Given the description of an element on the screen output the (x, y) to click on. 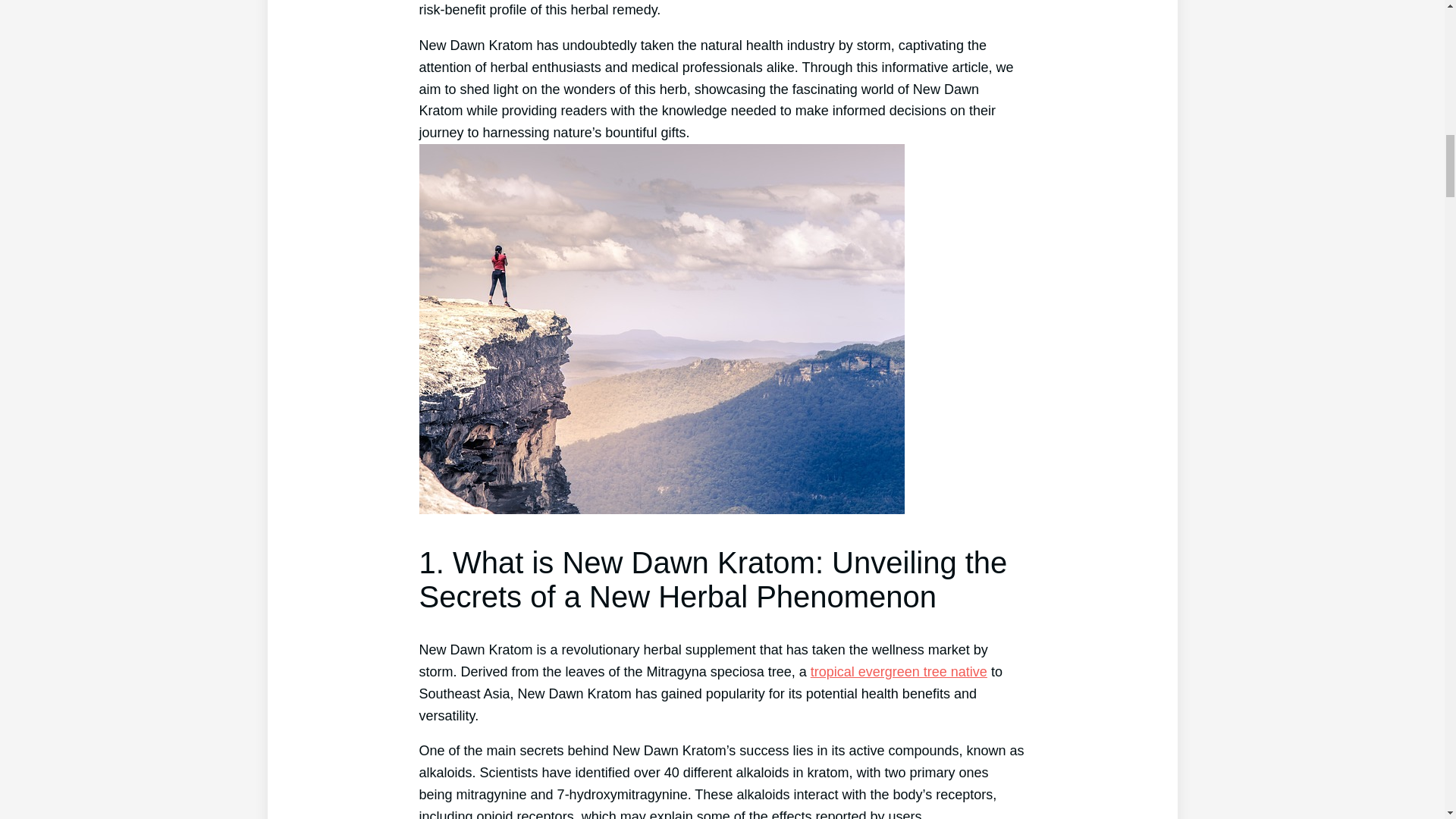
tropical evergreen tree native (898, 671)
